Given the description of an element on the screen output the (x, y) to click on. 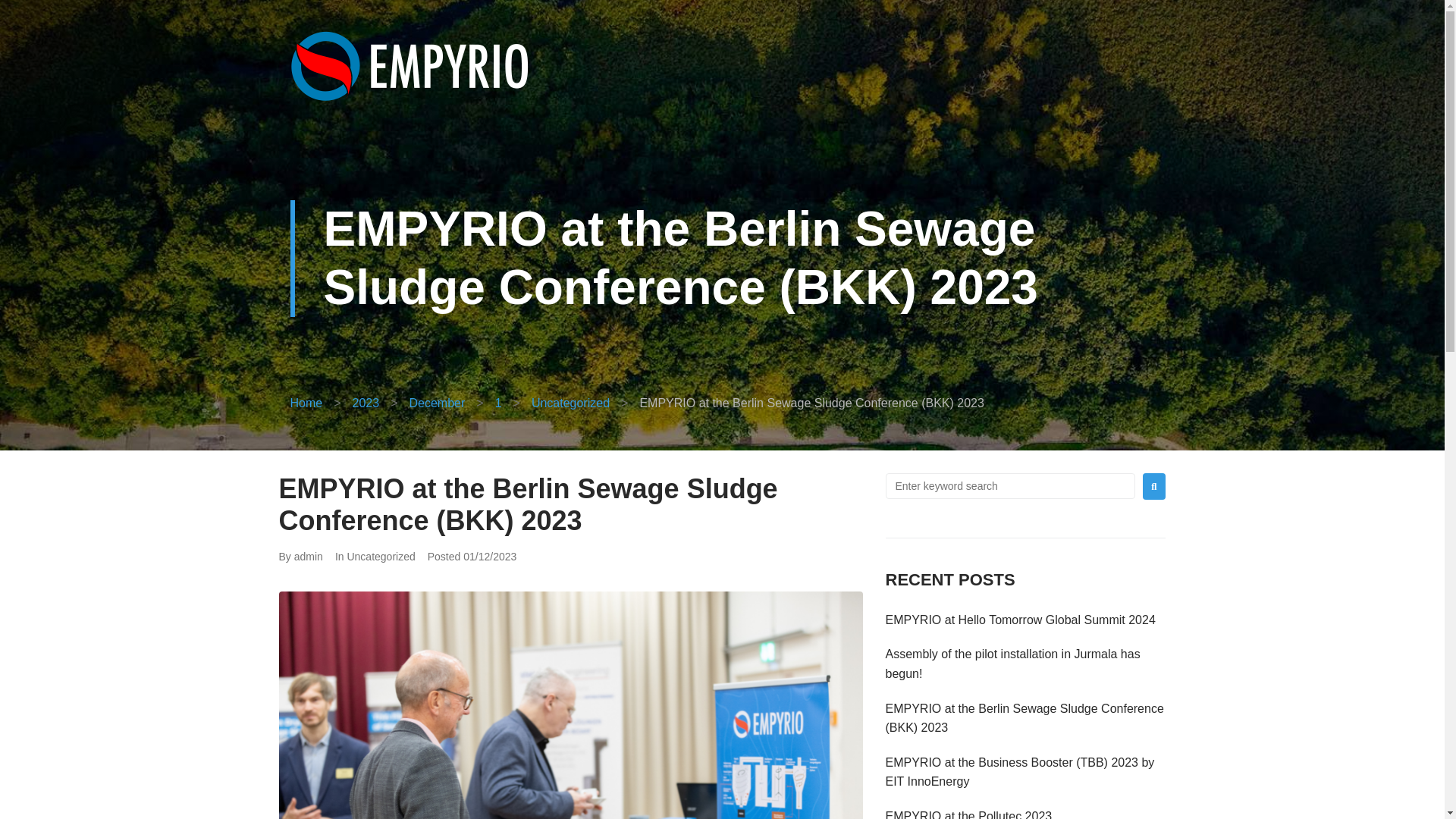
admin (308, 556)
1 (498, 402)
Uncategorized (570, 402)
December (436, 402)
Home (305, 402)
2023 (366, 402)
EMPYRIO at the Pollutec 2023 (968, 814)
December (436, 402)
Assembly of the pilot installation in Jurmala has begun! (1012, 663)
Uncategorized (380, 556)
Home (305, 402)
1 (498, 402)
2023 (366, 402)
Uncategorized (570, 402)
EMPYRIO at Hello Tomorrow Global Summit 2024 (1020, 619)
